Given the description of an element on the screen output the (x, y) to click on. 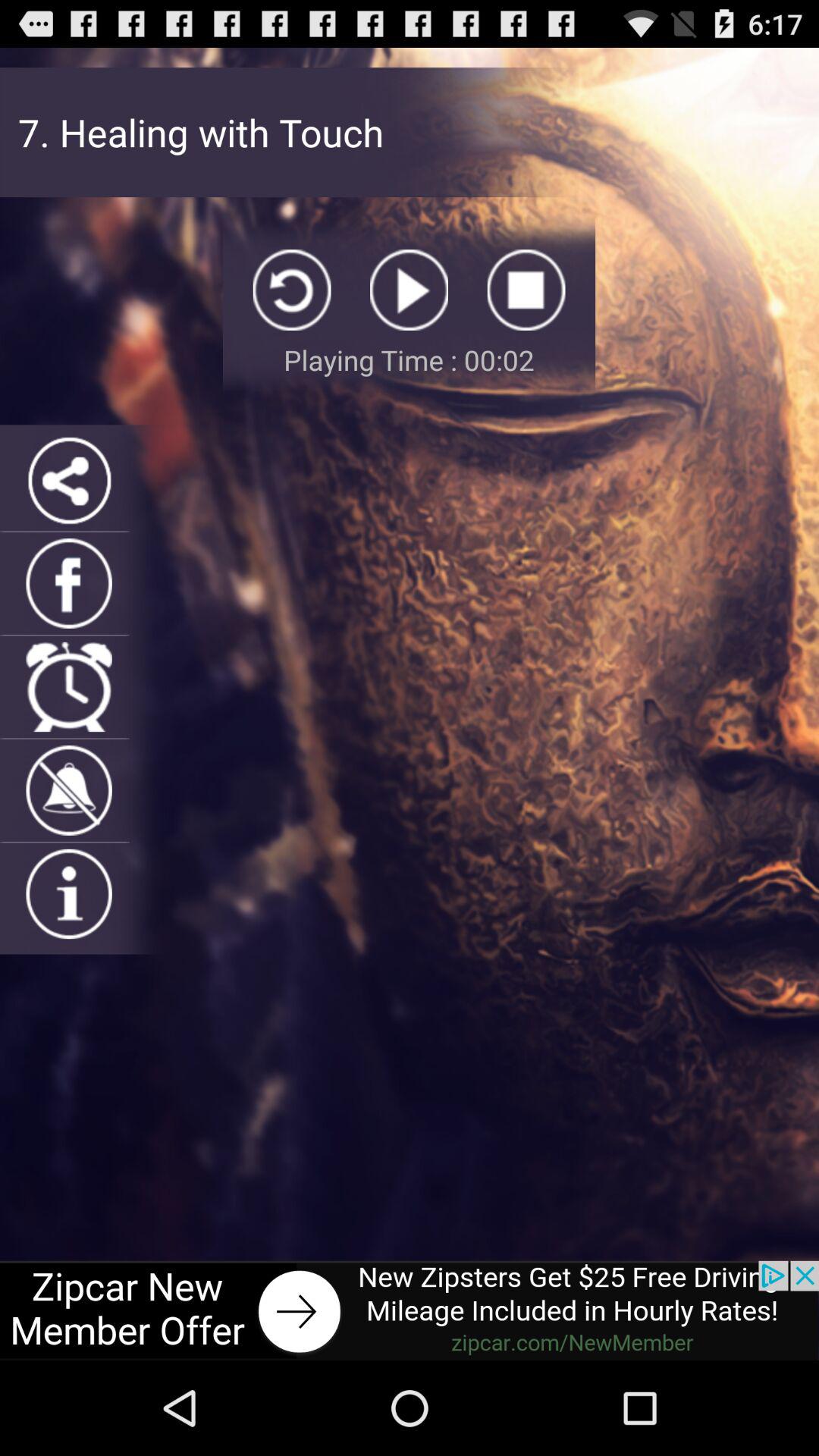
bell igan (69, 790)
